Given the description of an element on the screen output the (x, y) to click on. 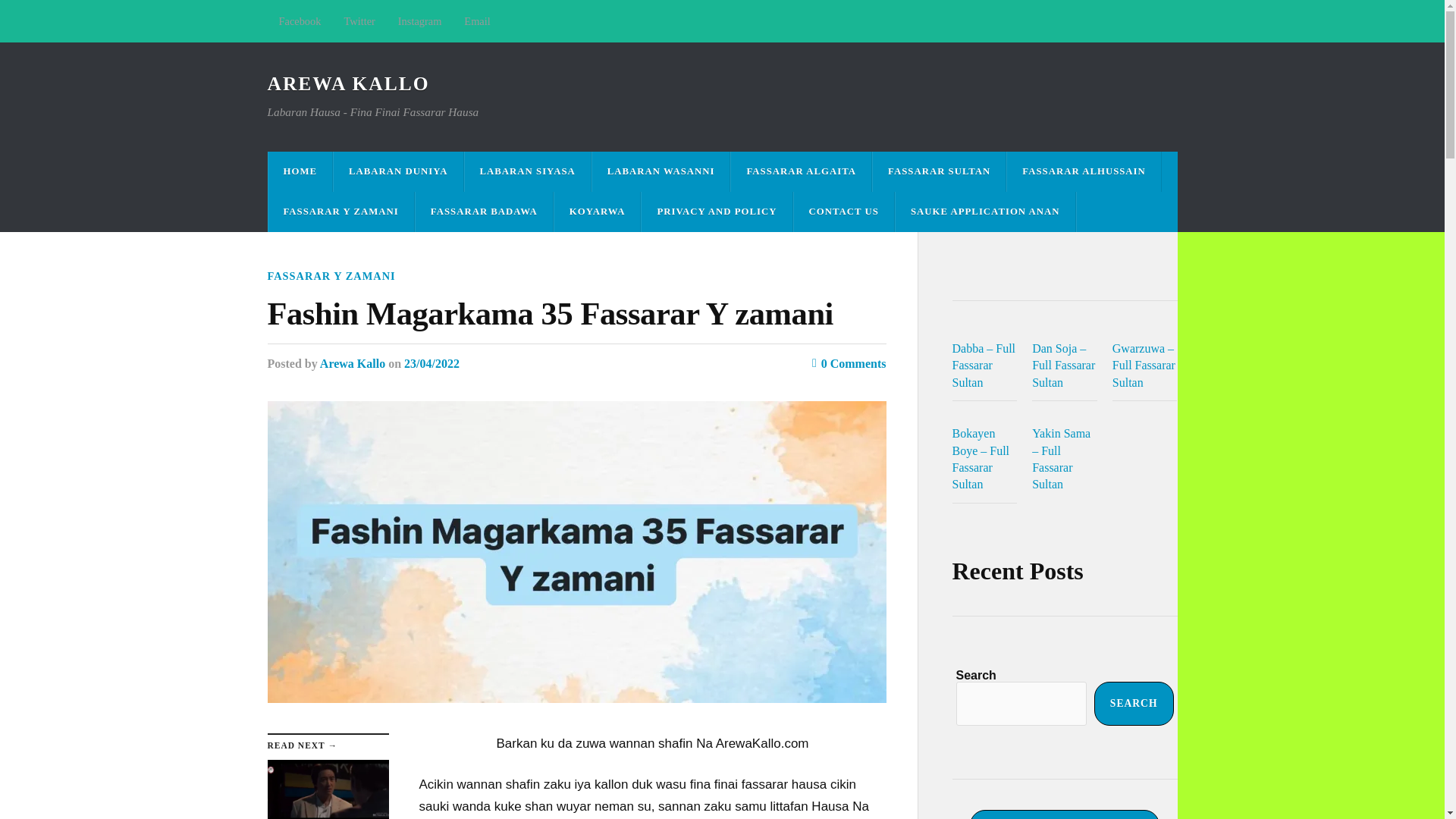
Facebook (298, 21)
FASSARAR Y ZAMANI (340, 211)
SAUKE APPLICATION ANAN (985, 211)
HOME (300, 171)
PRIVACY AND POLICY (717, 211)
FASSARAR SULTAN (939, 171)
LABARAN WASANNI (661, 171)
AREWA KALLO (347, 83)
0 Comments (849, 363)
FASSARAR ALGAITA (800, 171)
FASSARAR Y ZAMANI (330, 275)
FASSARAR BADAWA (483, 211)
LABARAN DUNIYA (398, 171)
CONTACT US (843, 211)
KOYARWA (597, 211)
